Given the description of an element on the screen output the (x, y) to click on. 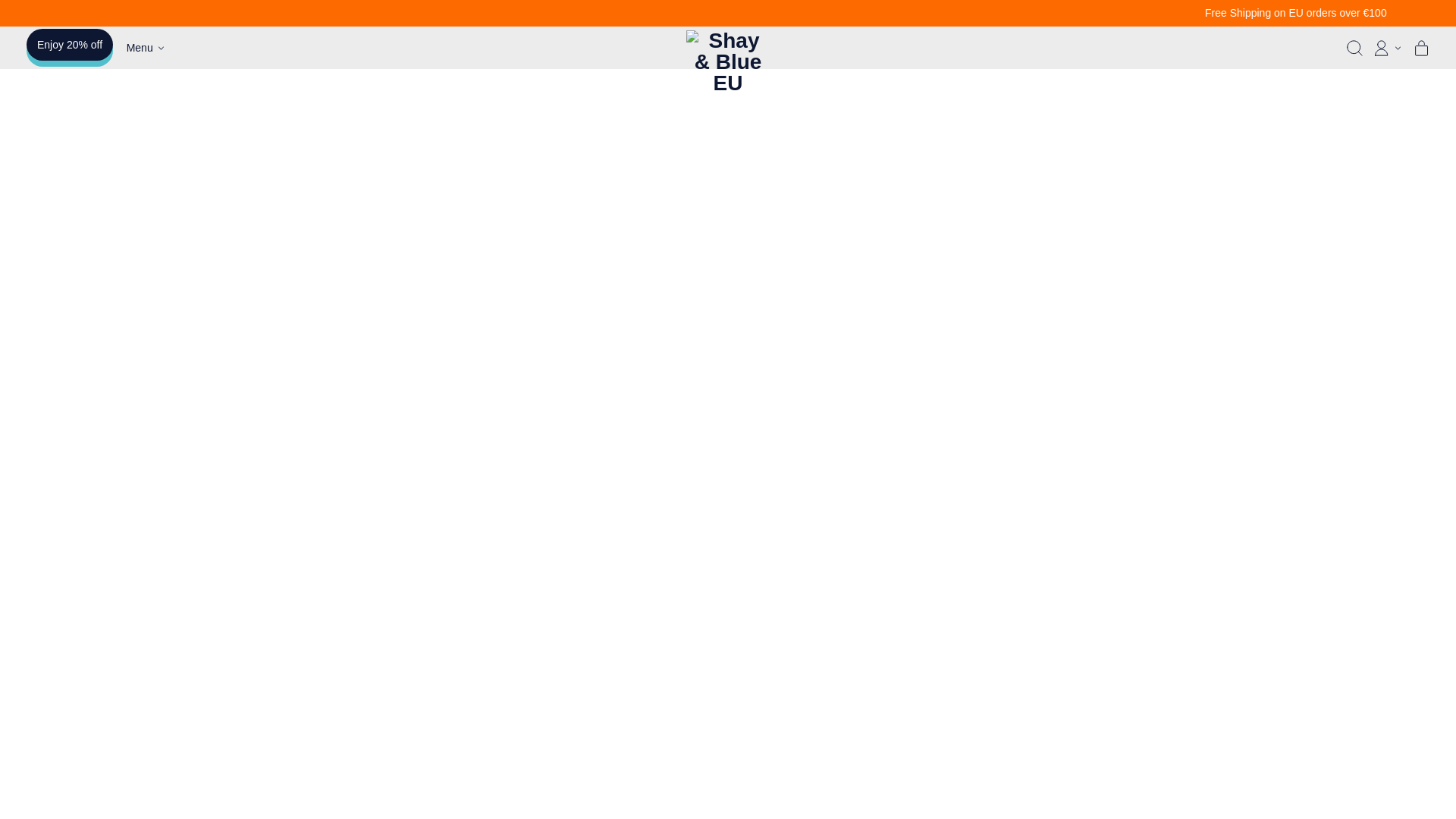
Search our site (1354, 47)
Menu (146, 47)
